Given the description of an element on the screen output the (x, y) to click on. 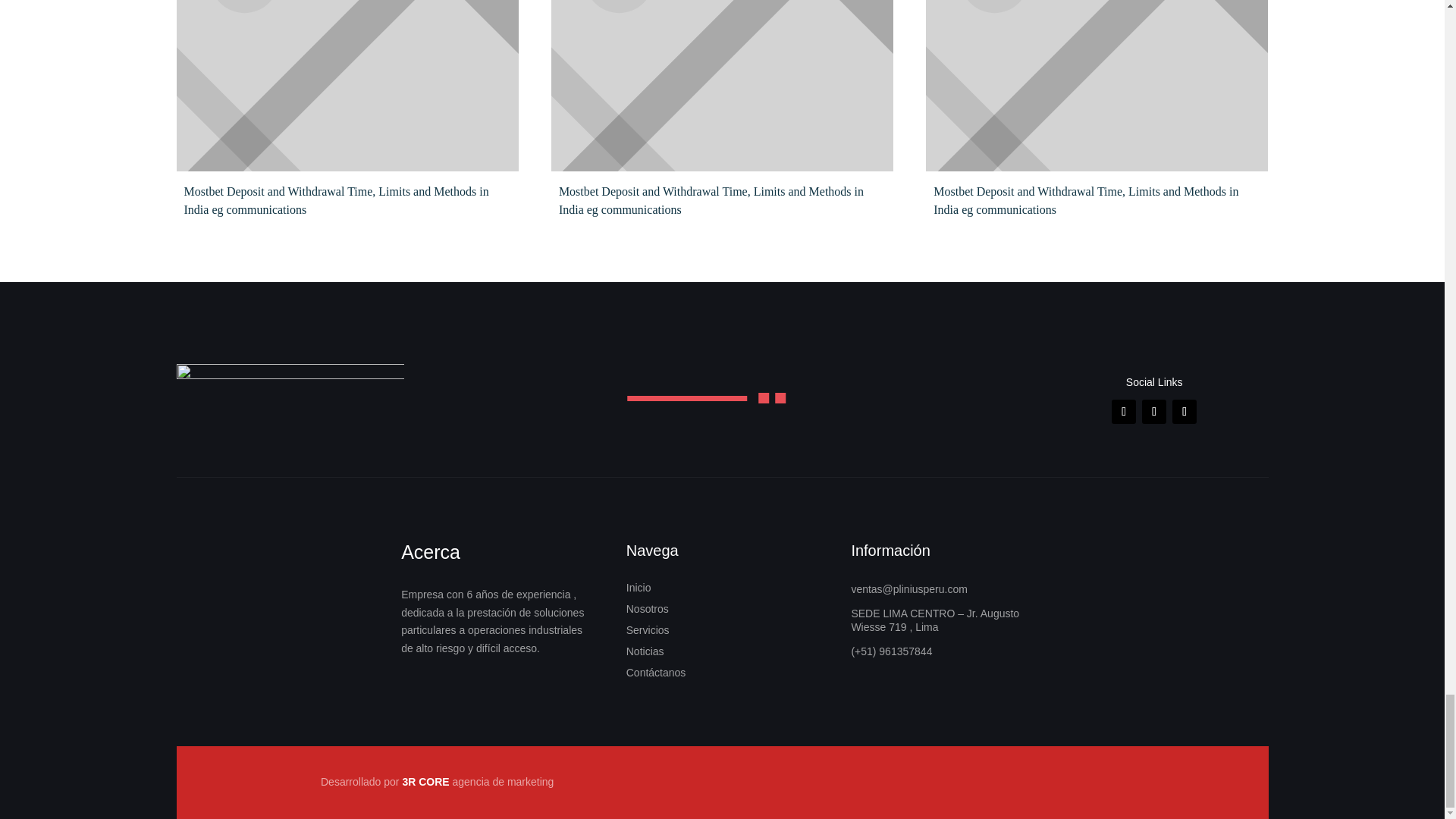
Follow on Facebook (1123, 411)
Follow on Youtube (1184, 411)
Follow on Instagram (1153, 411)
Logo-Plinius-Color-02 (290, 400)
